Given the description of an element on the screen output the (x, y) to click on. 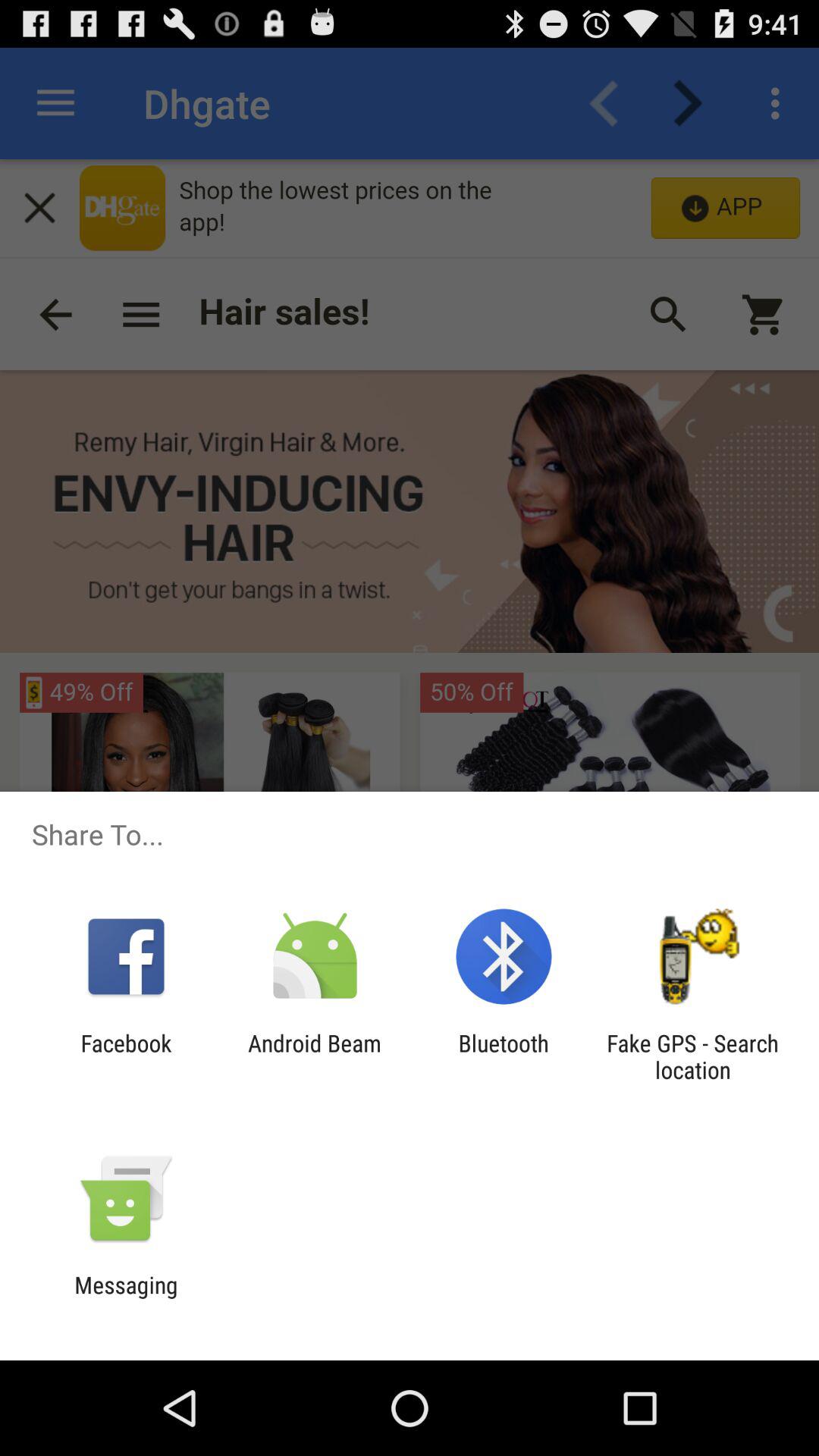
press the app to the left of the android beam icon (125, 1056)
